Given the description of an element on the screen output the (x, y) to click on. 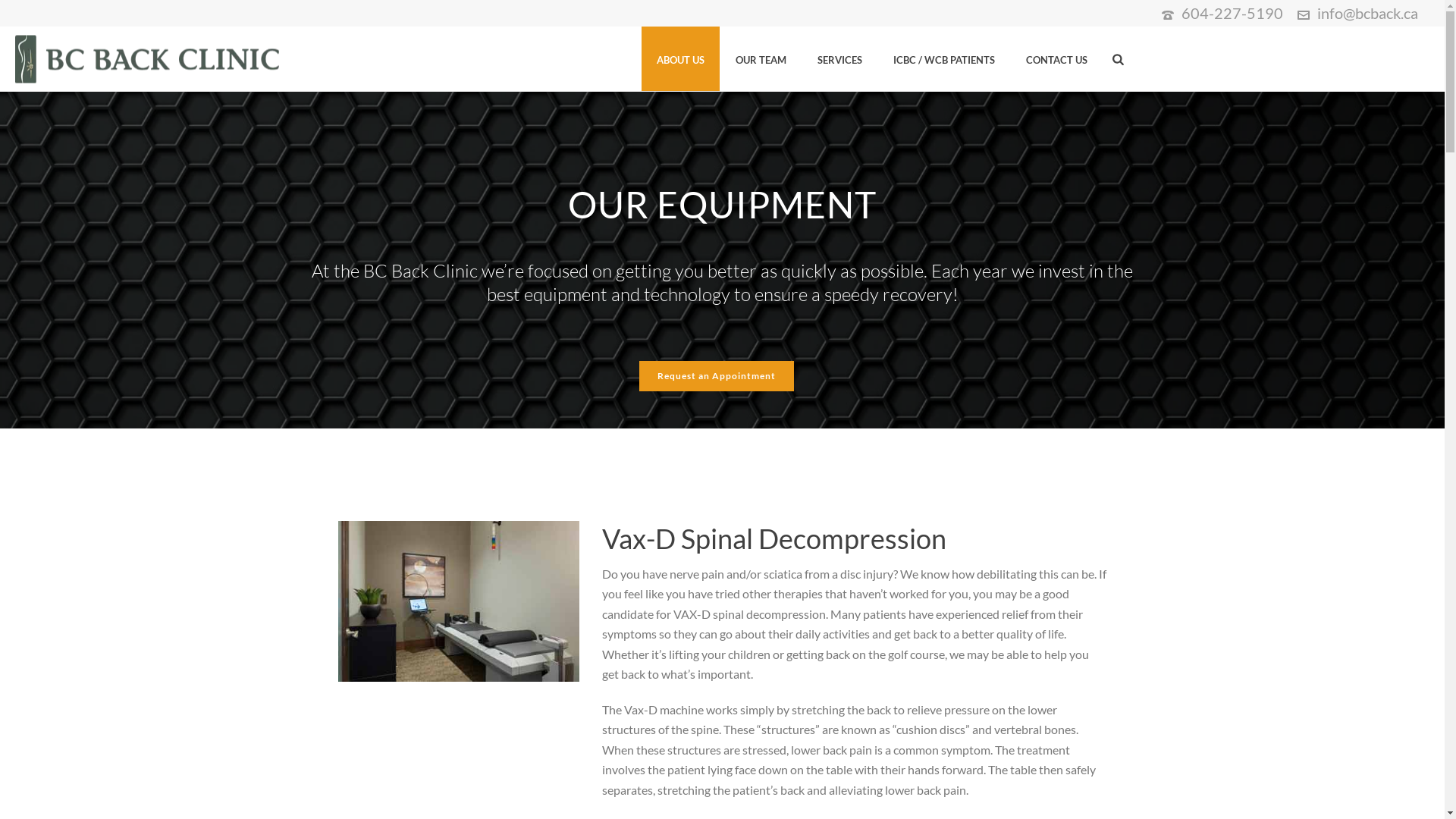
CONTACT US Element type: text (1056, 58)
info@bcback.ca Element type: text (1367, 12)
OUR TEAM Element type: text (760, 58)
ICBC / WCB PATIENTS Element type: text (944, 58)
SERVICES Element type: text (839, 58)
Request an Appointment Element type: text (716, 375)
ABOUT US Element type: text (680, 58)
Your Health is Our Priority Element type: hover (147, 58)
604-227-5190 Element type: text (1232, 12)
